Given the description of an element on the screen output the (x, y) to click on. 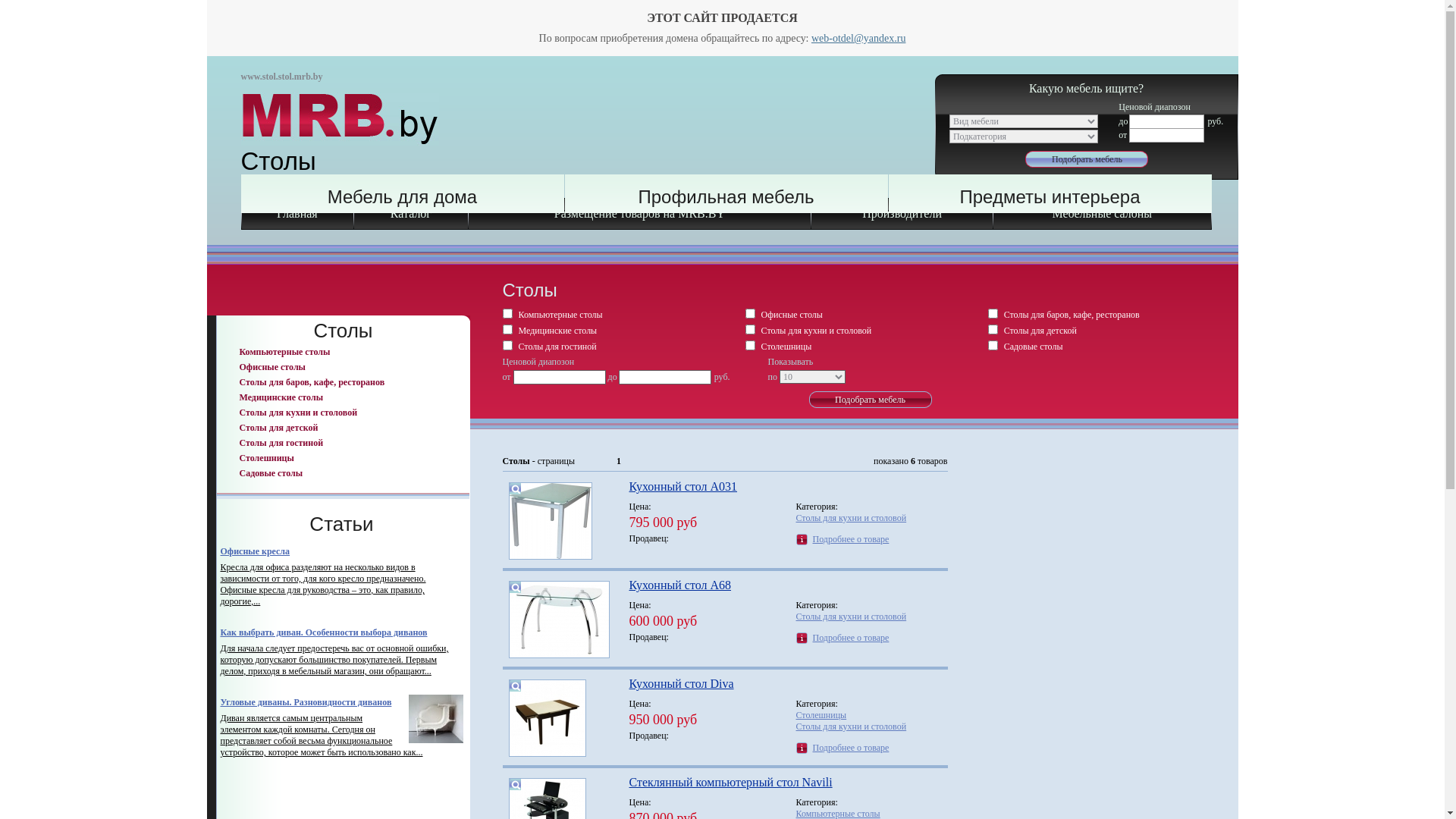
web-otdel@yandex.ru Element type: text (858, 37)
1 Element type: text (618, 460)
